Given the description of an element on the screen output the (x, y) to click on. 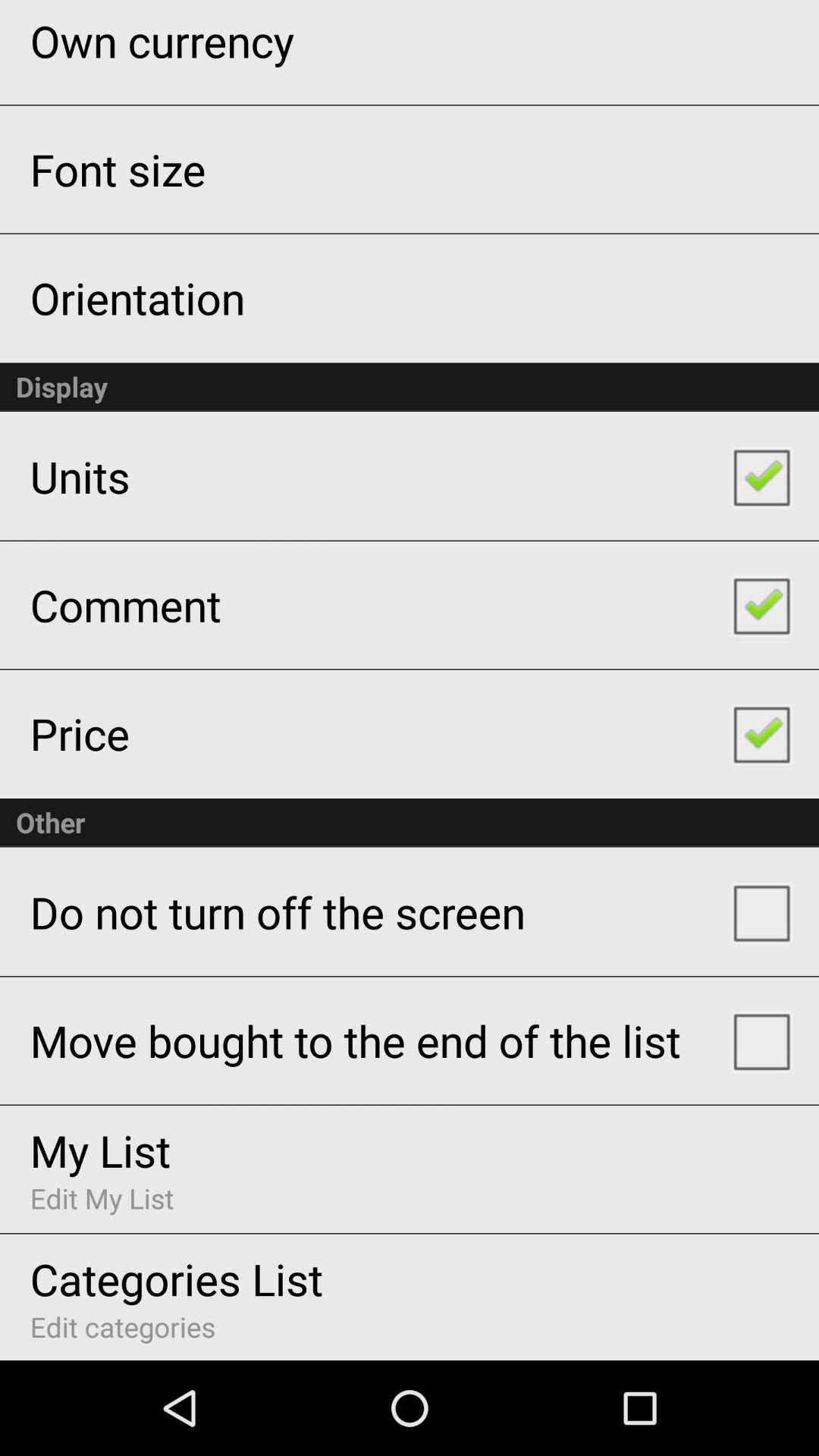
swipe to the display app (409, 386)
